Given the description of an element on the screen output the (x, y) to click on. 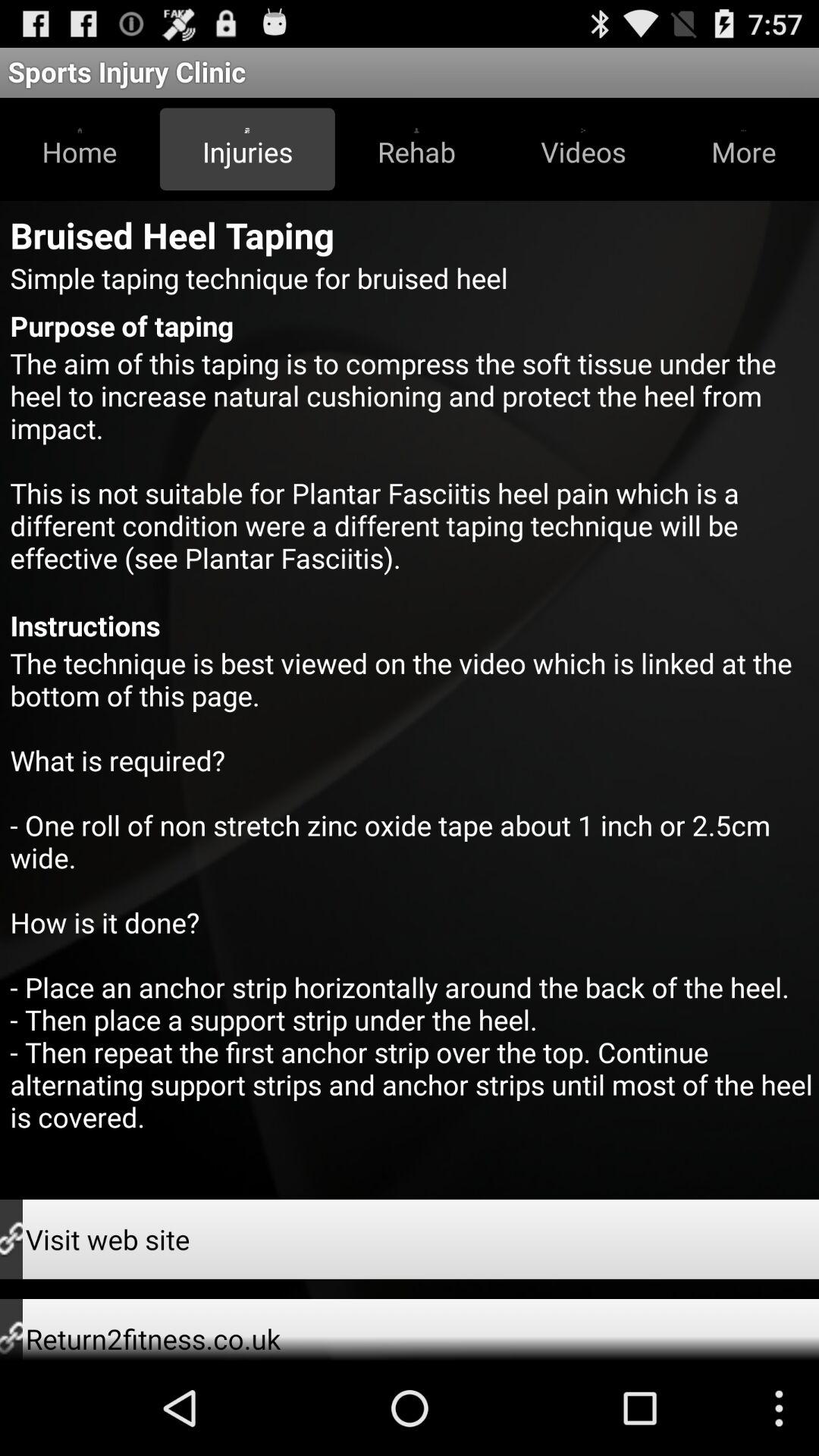
choose the icon next to home icon (246, 149)
